Given the description of an element on the screen output the (x, y) to click on. 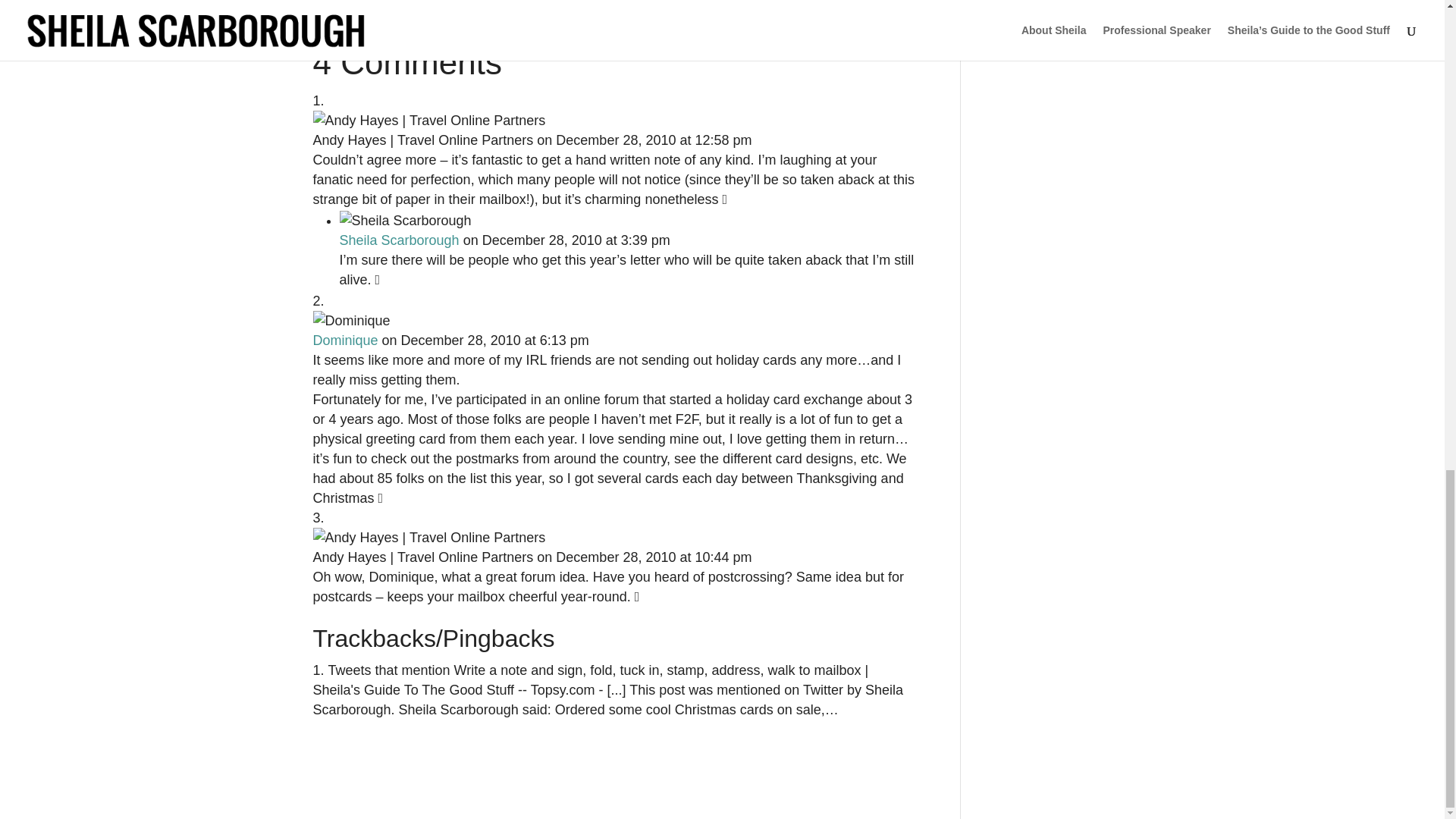
Dominique (345, 340)
via RSS feed (717, 7)
Feedburner options page. (717, 7)
Sheila Scarborough (399, 240)
